Given the description of an element on the screen output the (x, y) to click on. 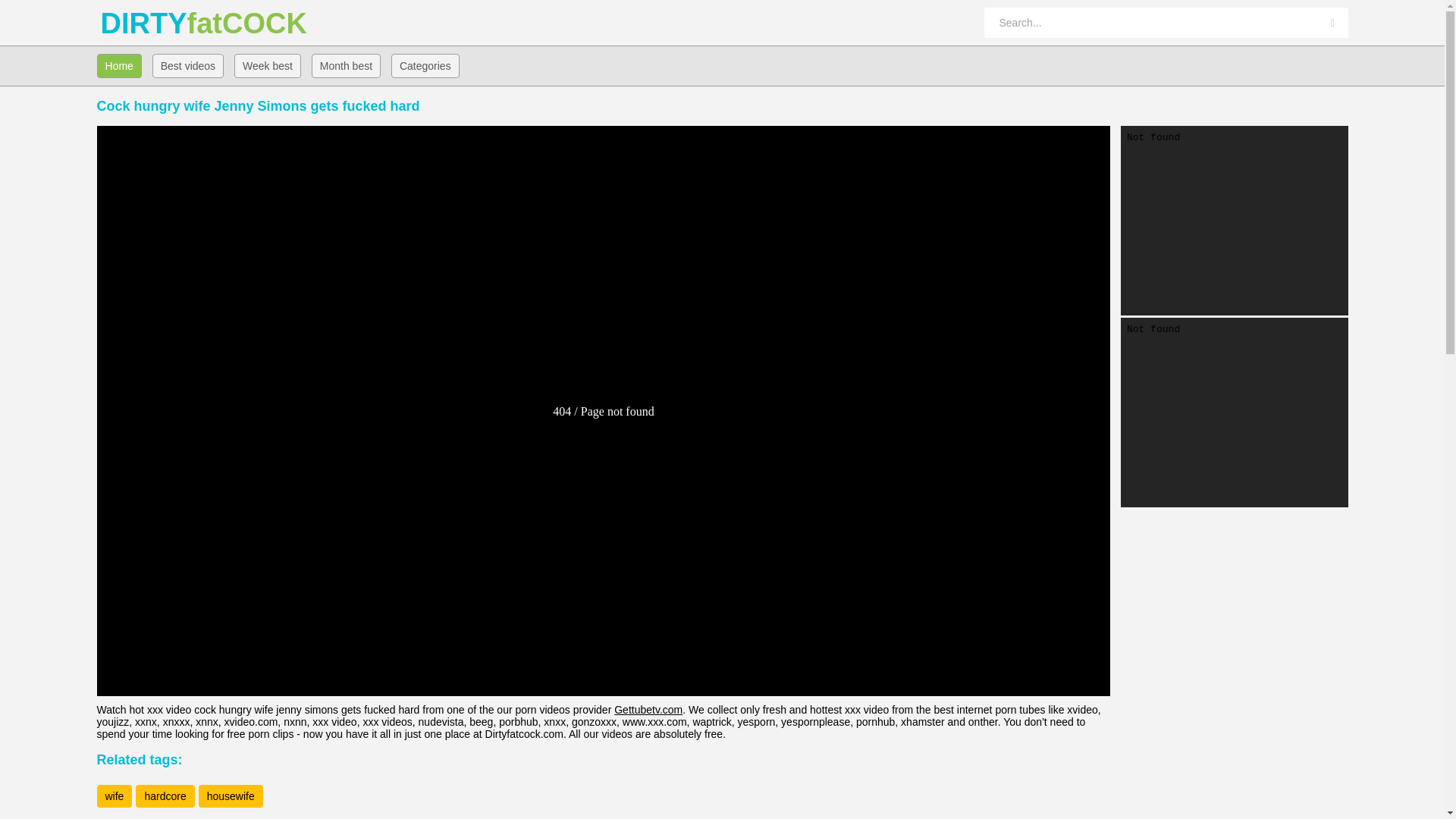
Week best (267, 65)
hardcore (164, 794)
Best videos (188, 65)
housewife (230, 794)
Gettubetv.com (648, 709)
Month best (345, 65)
Categories (425, 65)
wife (114, 794)
Home (119, 65)
DIRTYfatCOCK (138, 23)
